Given the description of an element on the screen output the (x, y) to click on. 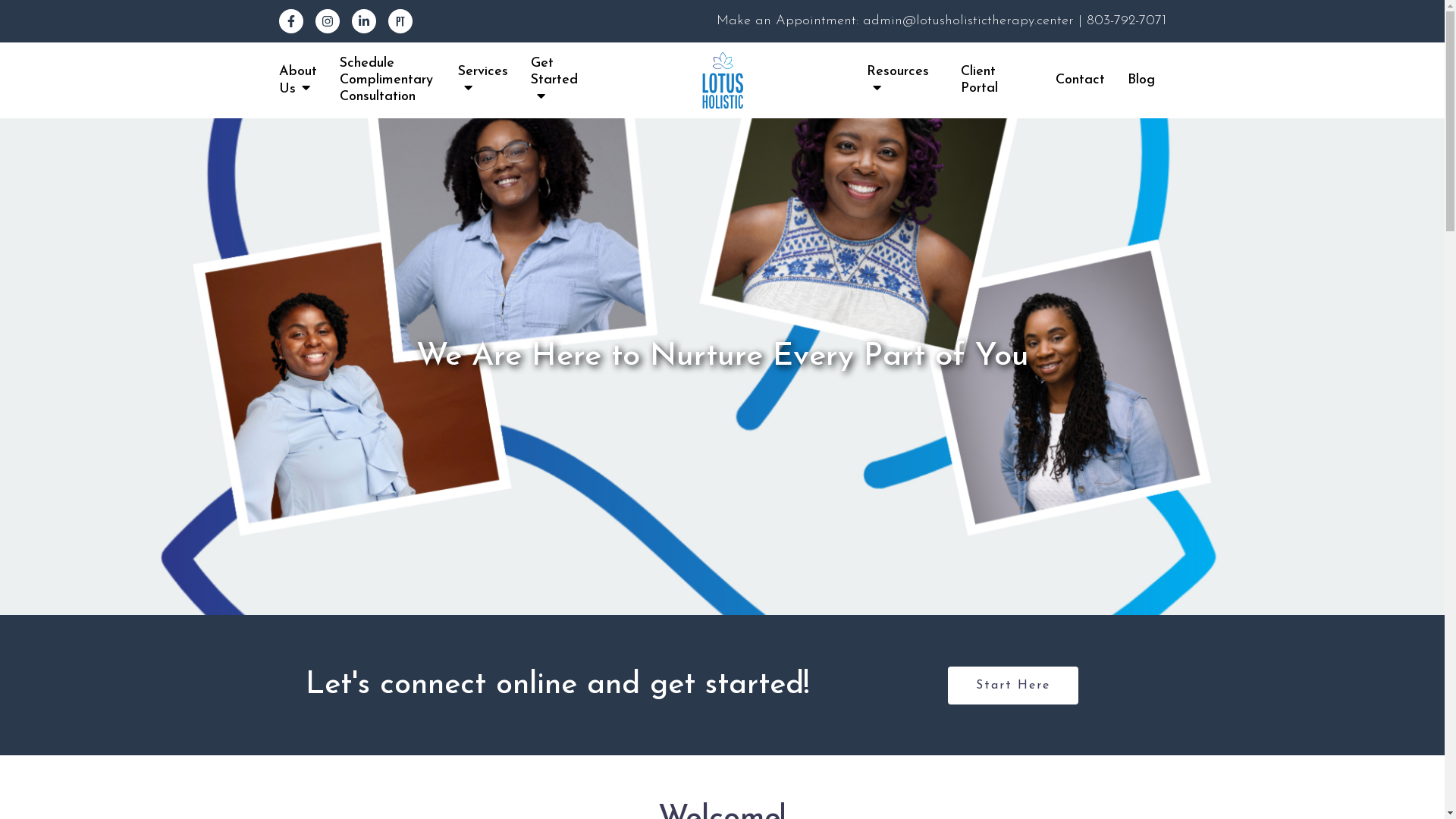
Contact Element type: text (1079, 80)
Services Element type: text (483, 80)
About Us Element type: text (297, 80)
admin@lotusholistictherapy.center Element type: text (970, 20)
Resources Element type: text (902, 80)
Blog Element type: text (1140, 80)
Client Portal Element type: text (996, 80)
803-792-7071 Element type: text (1125, 20)
Get Started Element type: text (553, 79)
Start Here Element type: text (1012, 684)
Schedule Complimentary Consultation Element type: text (387, 80)
